Given the description of an element on the screen output the (x, y) to click on. 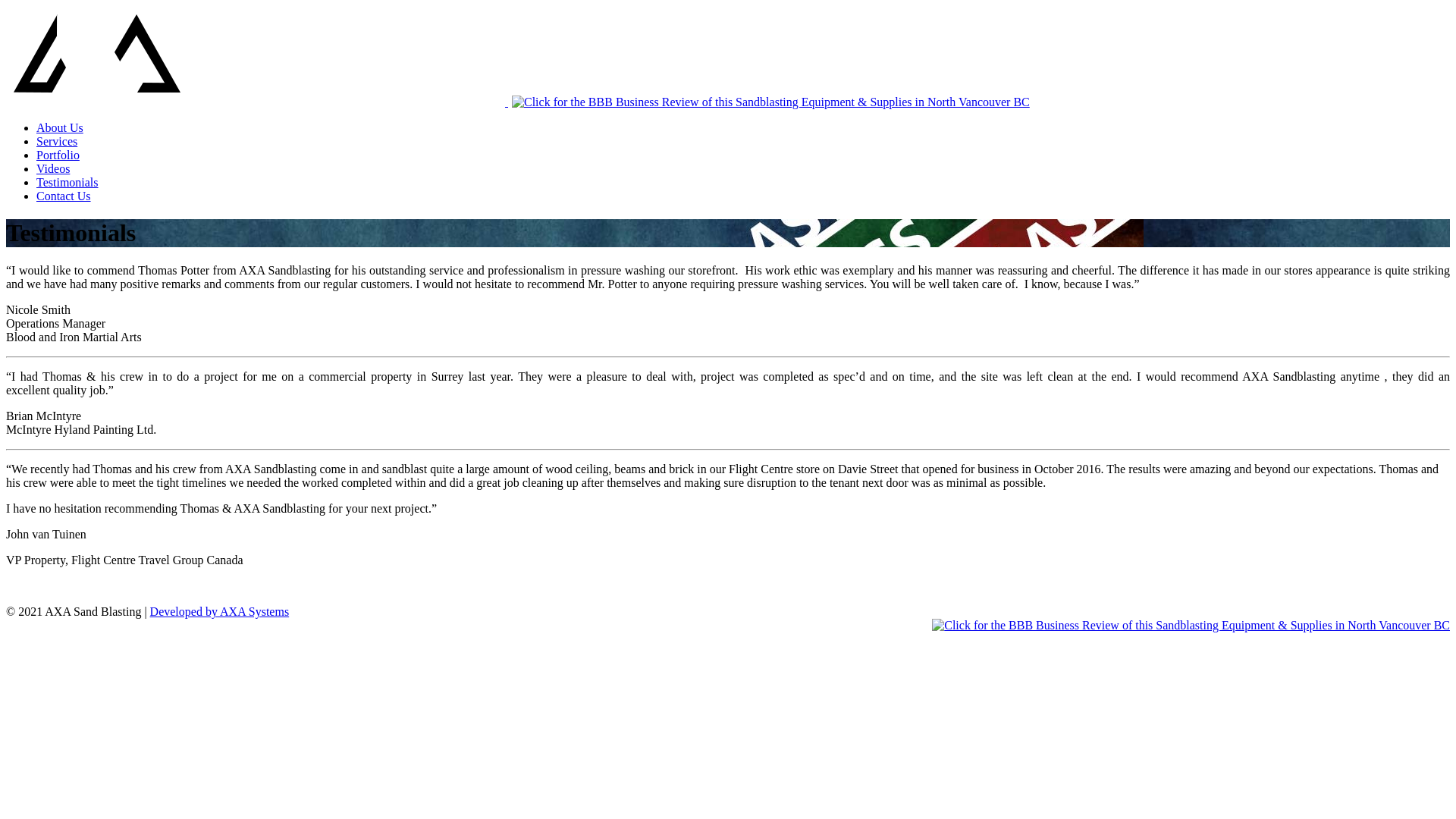
About Us Element type: text (59, 127)
Testimonials Element type: text (67, 181)
Developed by AXA Systems Element type: text (219, 611)
Portfolio Element type: text (57, 154)
Videos Element type: text (52, 168)
Contact Us Element type: text (63, 195)
Services Element type: text (56, 140)
